Given the description of an element on the screen output the (x, y) to click on. 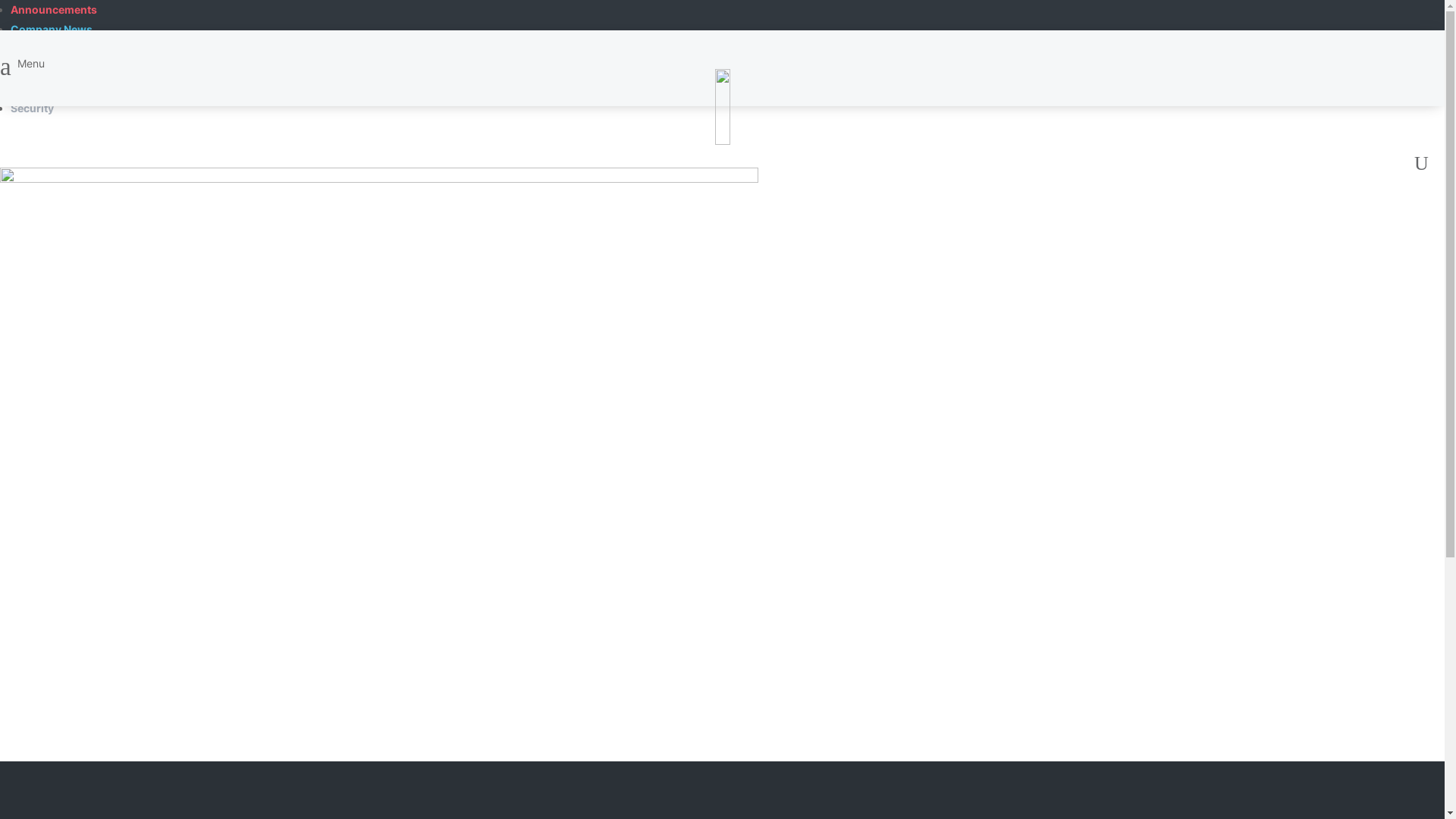
Products and Services Element type: text (68, 67)
Tips & Tricks Element type: text (43, 87)
the-library-blog-logo Element type: hover (721, 106)
Promotions Element type: text (41, 47)
Search Element type: text (384, 56)
Company News Element type: text (51, 28)
Security Element type: text (31, 107)
